Given the description of an element on the screen output the (x, y) to click on. 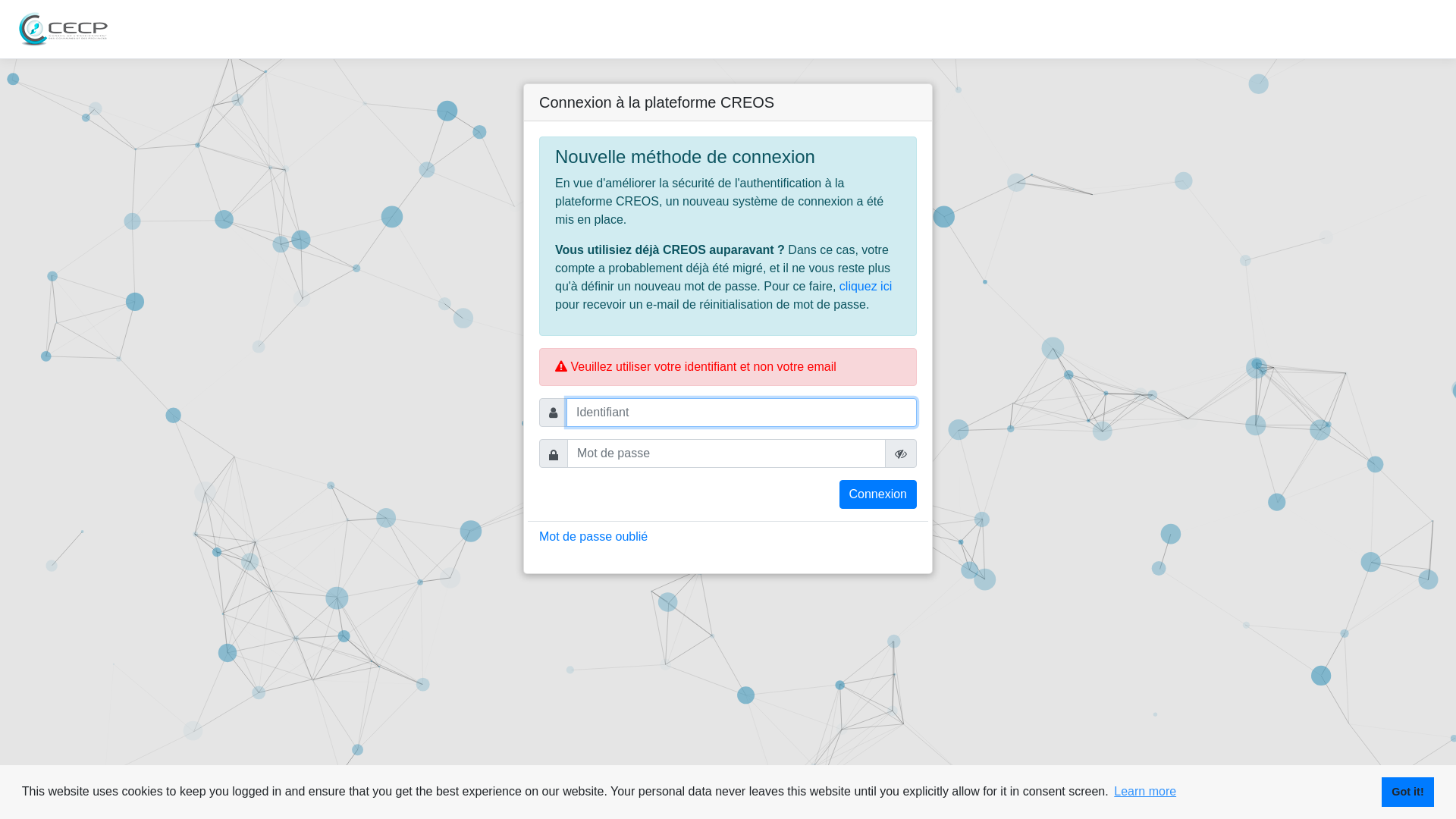
cliquez ici Element type: text (865, 285)
Connexion Element type: text (877, 494)
Learn more Element type: text (1144, 791)
Got it! Element type: text (1407, 791)
Lock Element type: hover (553, 454)
